Given the description of an element on the screen output the (x, y) to click on. 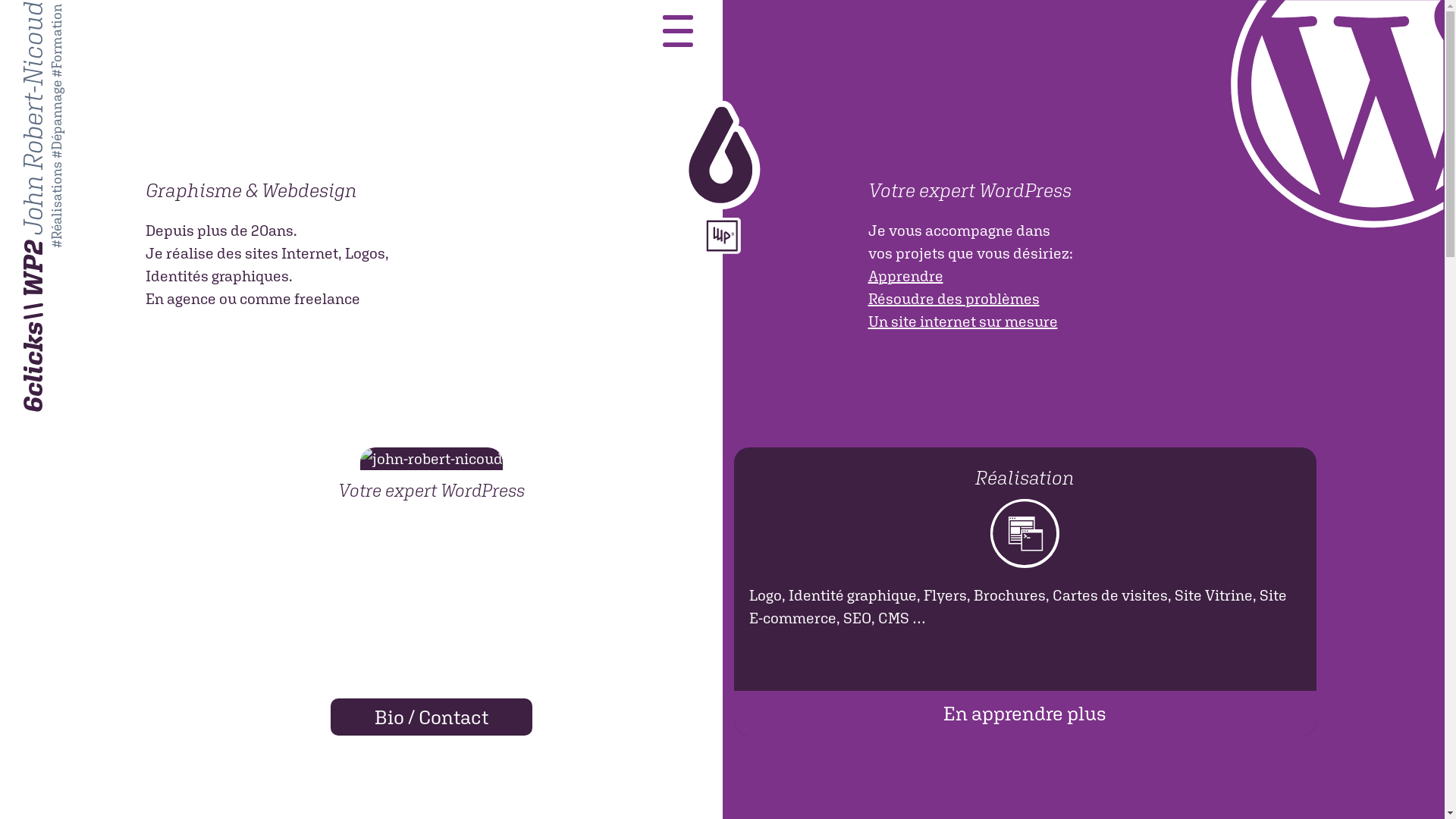
Bio / Contact Element type: text (431, 716)
Un site internet sur mesure Element type: text (962, 321)
Apprendre Element type: text (904, 275)
En apprendre plus Element type: text (1024, 712)
